Given the description of an element on the screen output the (x, y) to click on. 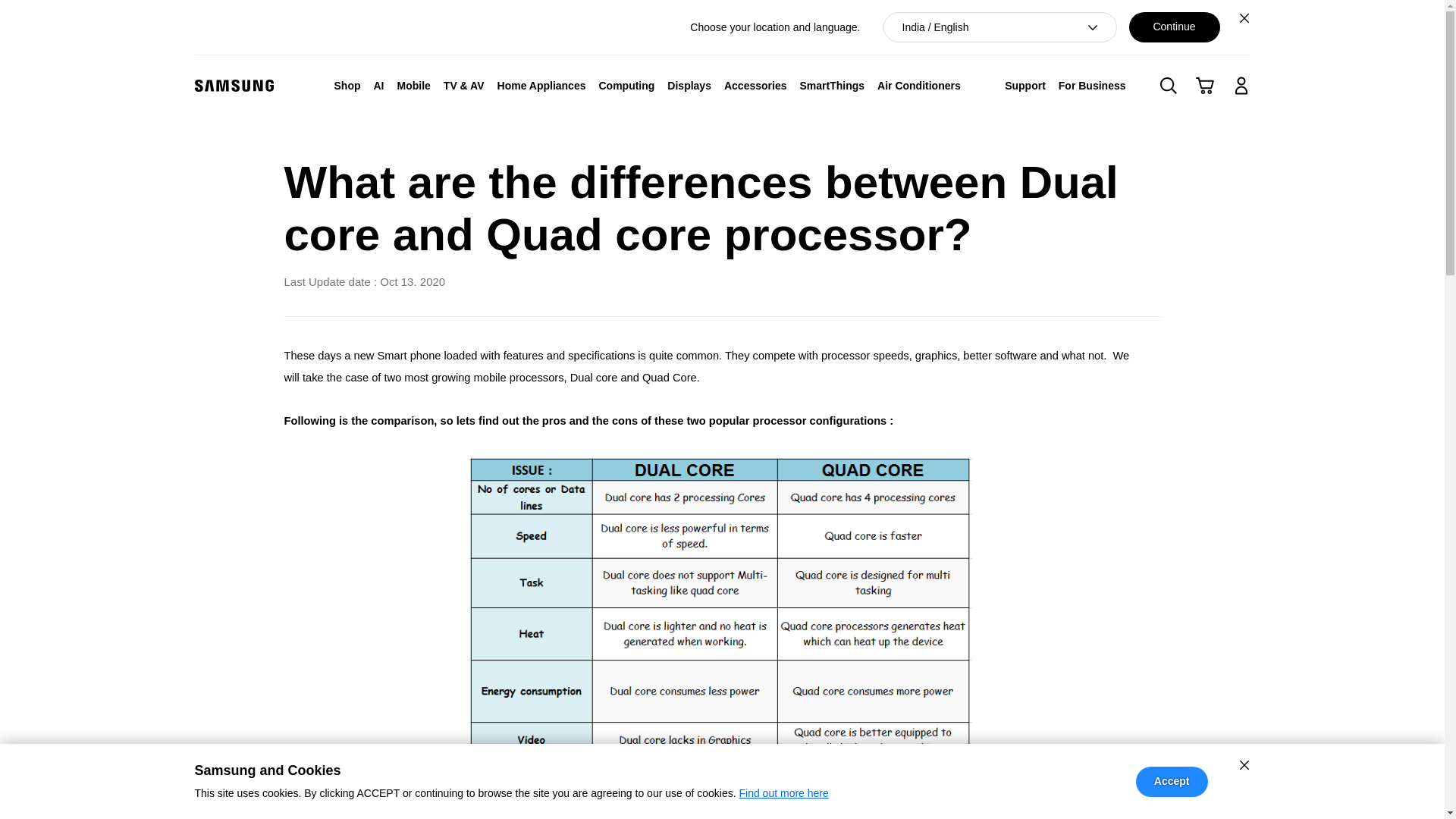
Find out more here (783, 793)
Continue (1174, 27)
Accept (1171, 781)
close (1243, 764)
AI (378, 85)
Accept (1171, 781)
Shop (346, 85)
Close (1243, 17)
